Given the description of an element on the screen output the (x, y) to click on. 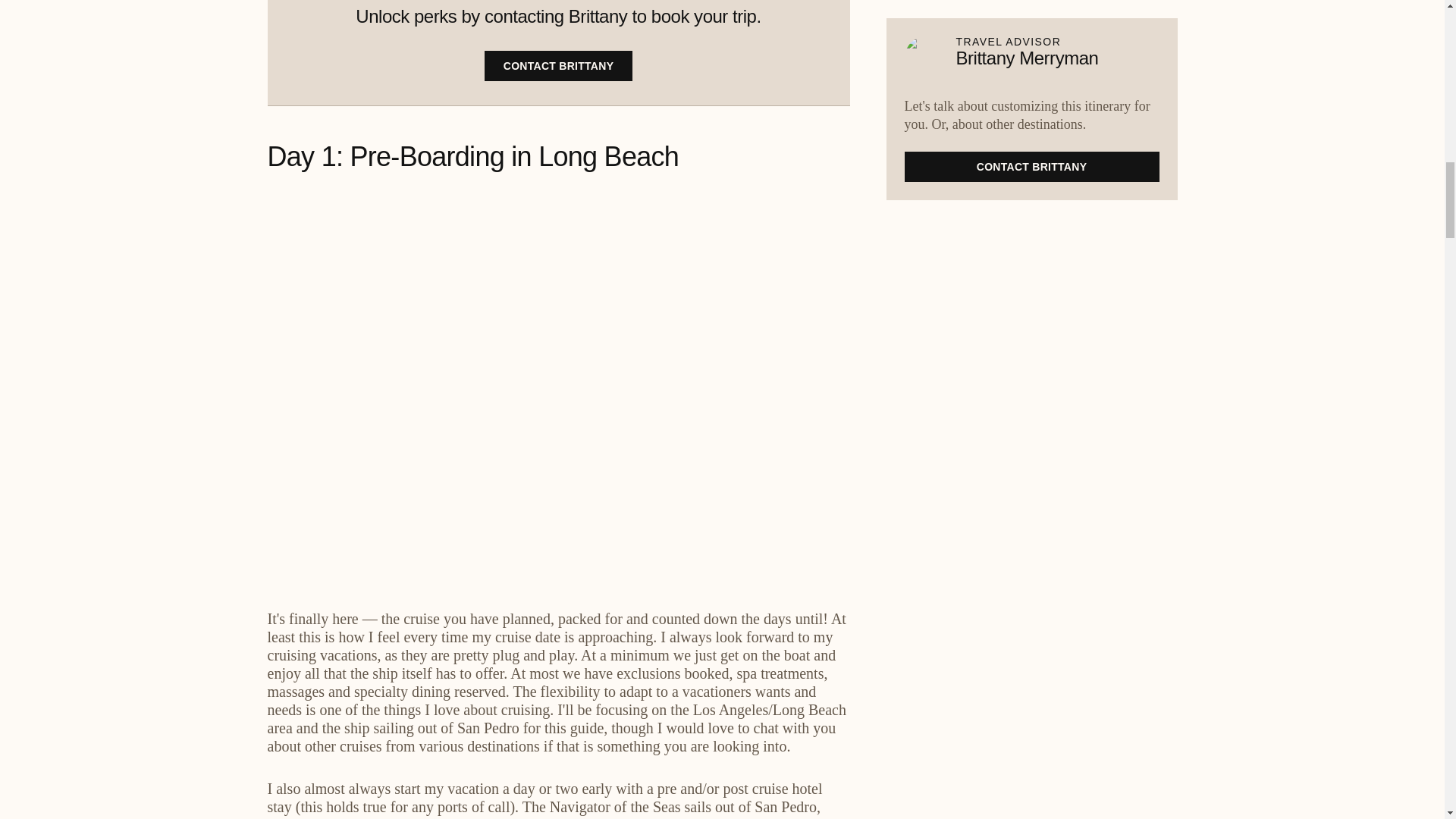
CONTACT BRITTANY (558, 65)
